Given the description of an element on the screen output the (x, y) to click on. 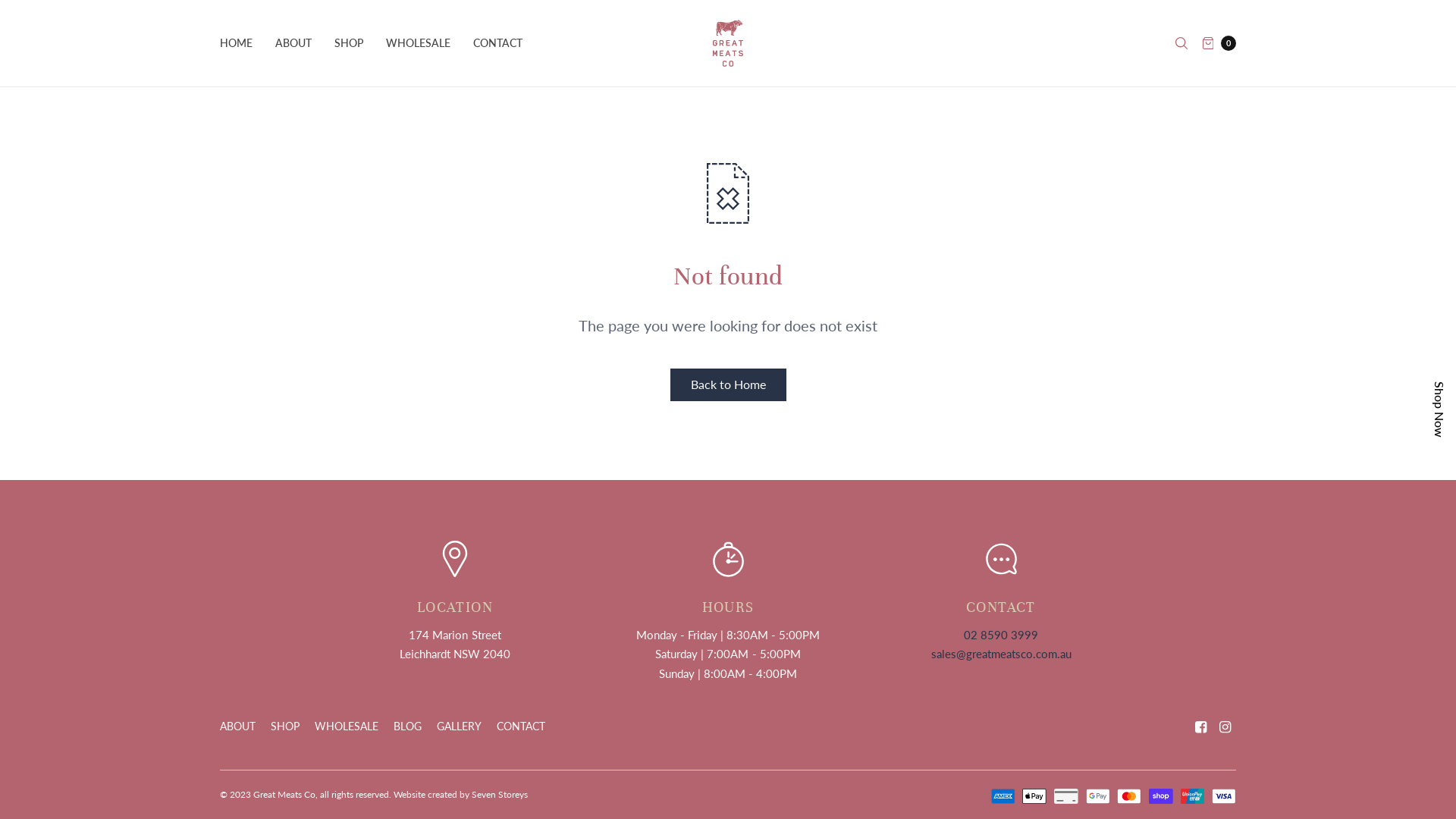
Seven Storeys Element type: text (499, 794)
Back to Home Element type: text (728, 384)
BLOG Element type: text (407, 726)
CONTACT Element type: text (520, 726)
WHOLESALE Element type: text (346, 726)
Facebook Element type: hover (1201, 725)
CONTACT Element type: text (497, 42)
GALLERY Element type: text (458, 726)
sales@greatmeatsco.com.au Element type: text (1001, 653)
02 8590 3999 Element type: text (1000, 634)
Instagram Element type: hover (1225, 725)
HOME Element type: text (235, 42)
SHOP Element type: text (348, 42)
SHOP Element type: text (284, 726)
ABOUT Element type: text (293, 42)
0 Element type: text (1219, 43)
ABOUT Element type: text (237, 726)
Search Element type: hover (1181, 42)
WHOLESALE Element type: text (417, 42)
